Given the description of an element on the screen output the (x, y) to click on. 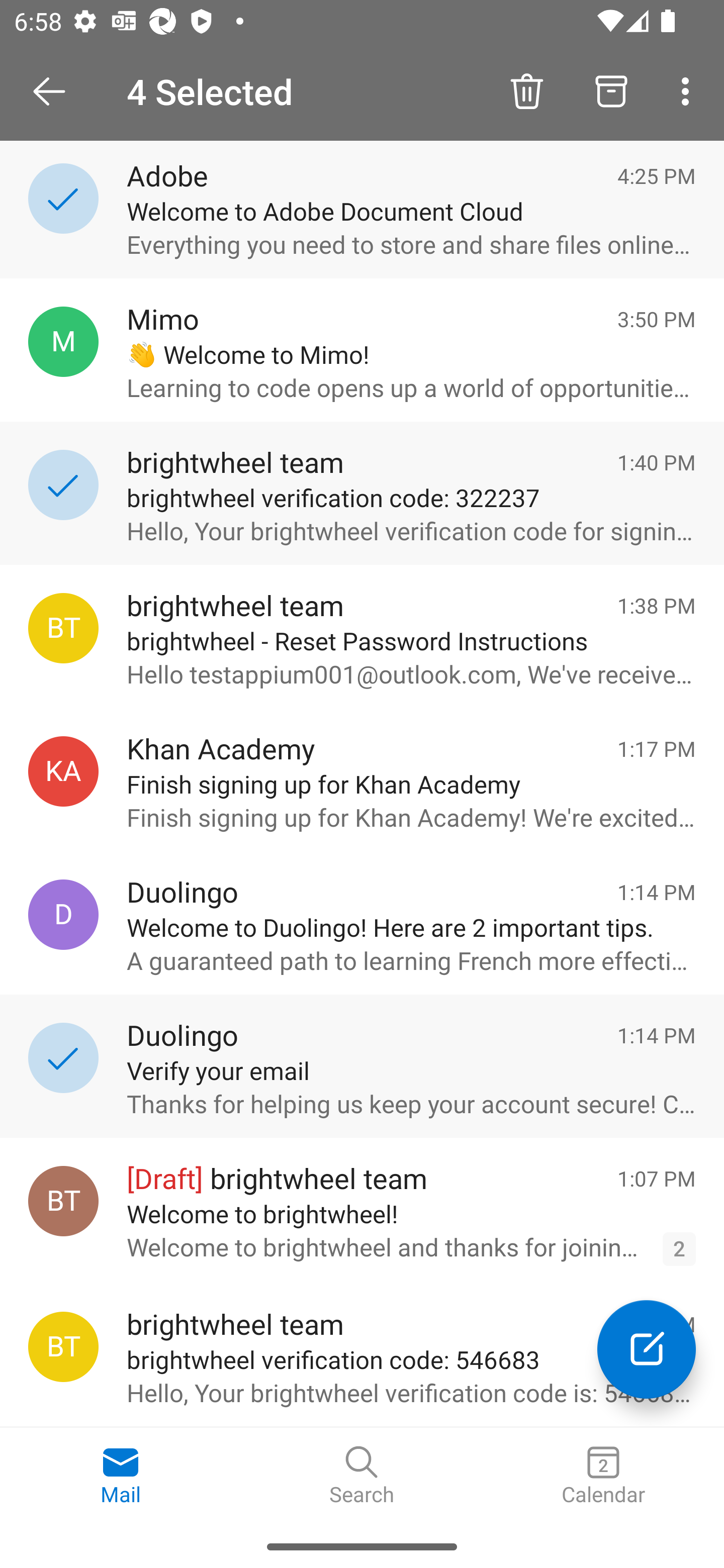
Delete (526, 90)
Archive (611, 90)
More options (688, 90)
Open Navigation Drawer (55, 91)
Mimo, support@getmimo.com (63, 341)
brightwheel team, recovery@mybrightwheel.com (63, 627)
Khan Academy, no-reply@khanacademy.org (63, 770)
Duolingo, hello@duolingo.com (63, 914)
brightwheel team, welcome@mybrightwheel.com (63, 1200)
Compose (646, 1348)
brightwheel team, recovery@mybrightwheel.com (63, 1346)
Search (361, 1475)
Calendar (603, 1475)
